Given the description of an element on the screen output the (x, y) to click on. 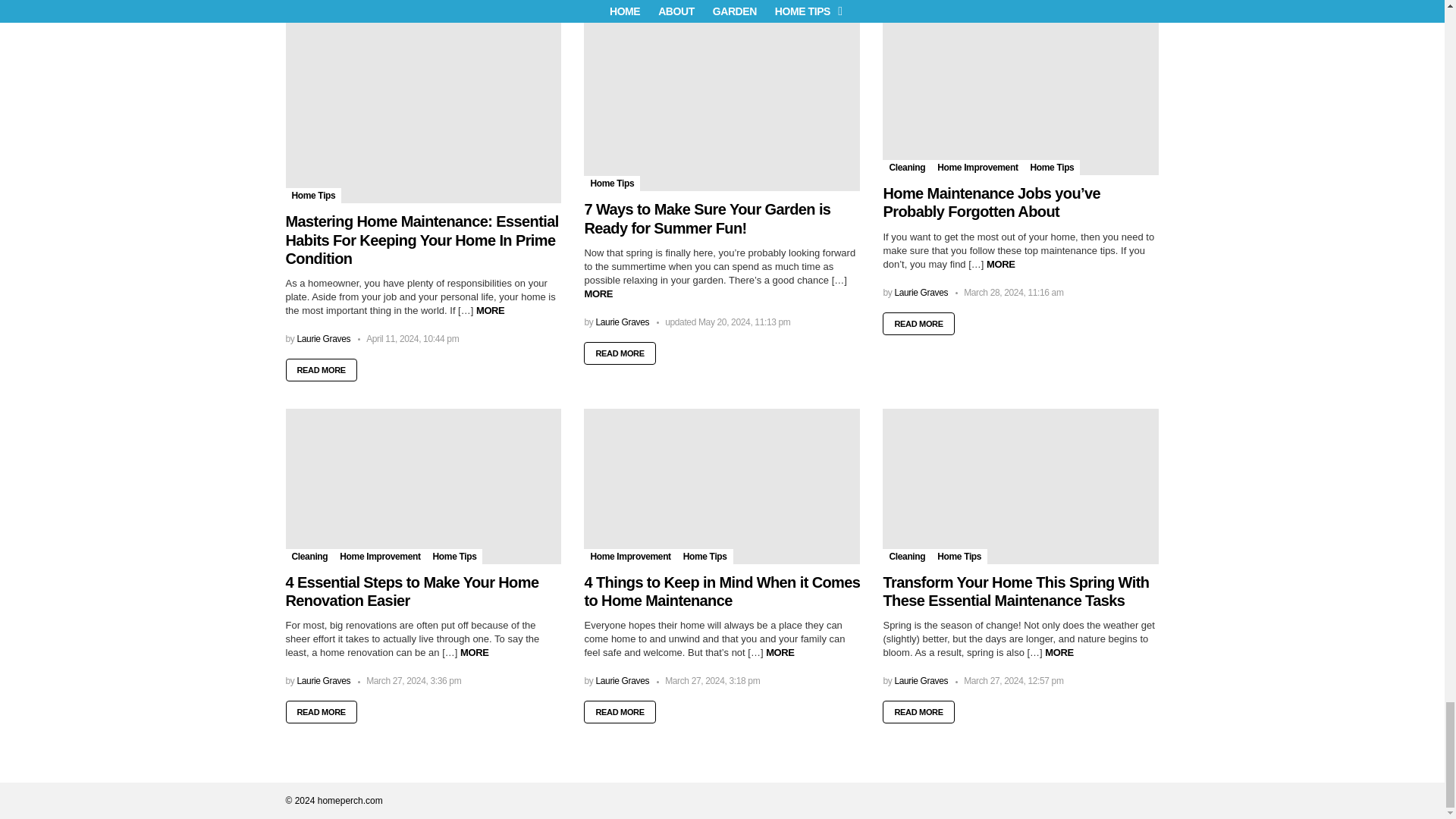
7 Ways to Make Sure Your Garden is Ready for Summer Fun! (721, 104)
Posts by Laurie Graves (323, 338)
Posts by Laurie Graves (622, 321)
Home Tips (312, 195)
Laurie Graves (323, 338)
MORE (489, 310)
